Given the description of an element on the screen output the (x, y) to click on. 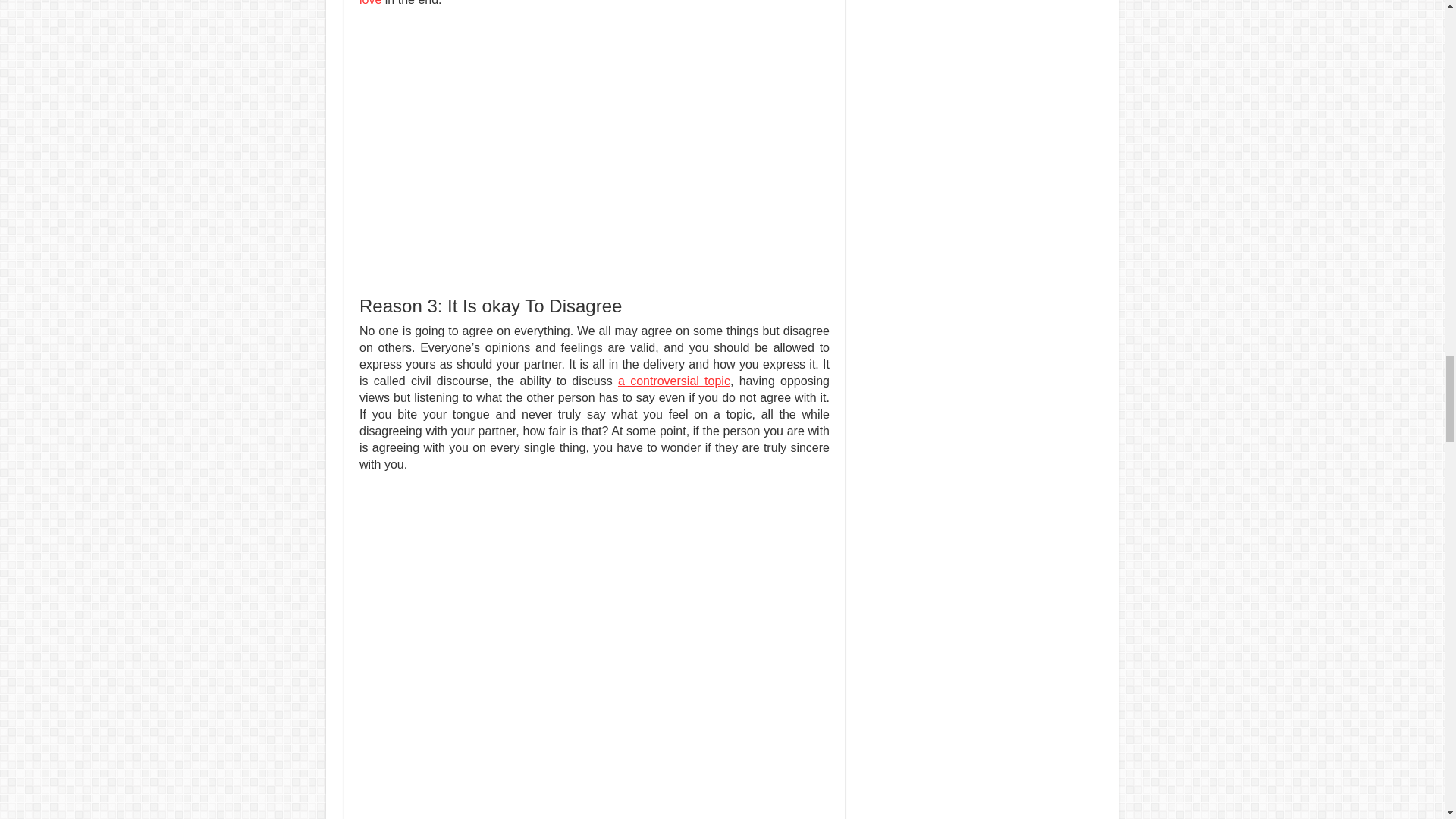
a controversial topic (673, 380)
you want them to love (594, 2)
